Given the description of an element on the screen output the (x, y) to click on. 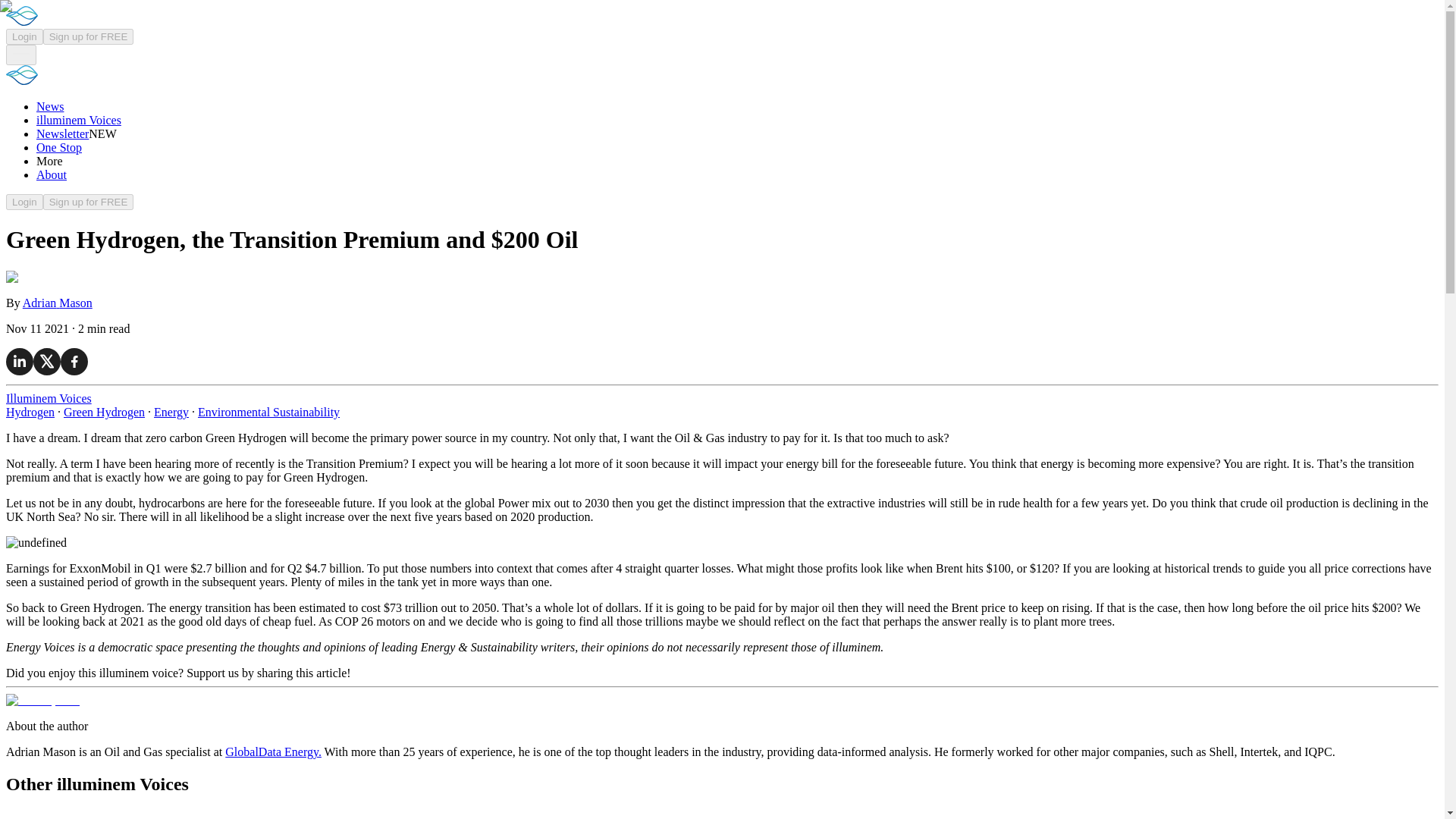
Login (24, 36)
Adrian Mason (58, 302)
GlobalData Energy. (273, 751)
Login (24, 201)
About (51, 174)
Energy (171, 411)
Newsletter (62, 133)
Sign up for FREE (88, 36)
Green Hydrogen (104, 411)
News (50, 106)
Illuminem Voices (48, 398)
illuminem Voices (78, 119)
Hydrogen (30, 411)
Environmental Sustainability (268, 411)
One Stop (58, 146)
